Given the description of an element on the screen output the (x, y) to click on. 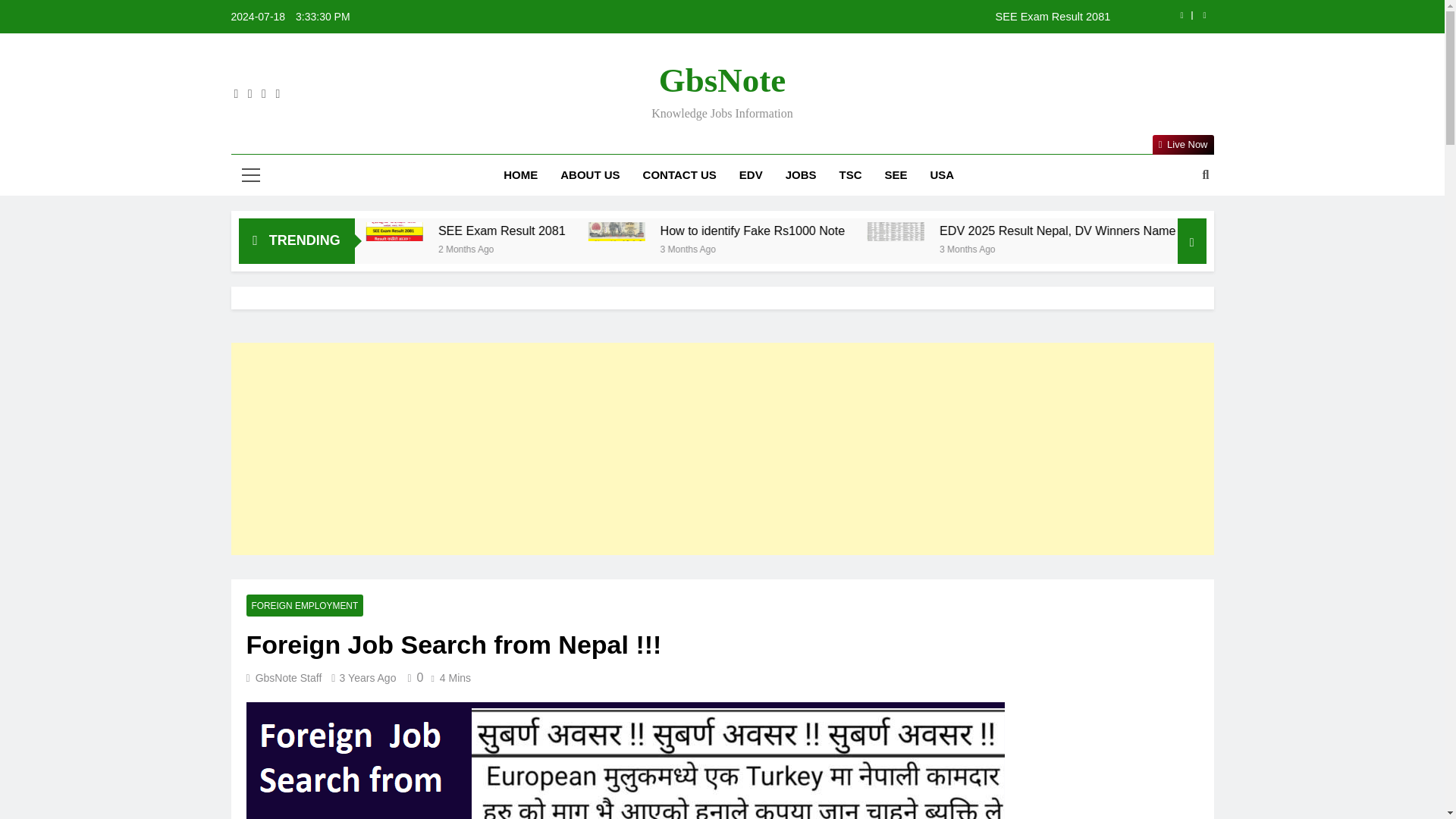
CONTACT US (679, 174)
SEE (895, 174)
GbsNote (722, 80)
SEE Exam Result 2081 (653, 230)
SEE Exam Result 2081 (619, 230)
3 Months Ago (829, 247)
SEE 2081 Exam Result !!! (398, 230)
ABOUT US (589, 174)
HOME (520, 174)
SEE Exam Result 2081 (817, 16)
SEE 2081 Exam Result !!! (432, 230)
TSC (850, 174)
1 Month Ago (384, 247)
SEE Exam Result 2081 (515, 230)
USA (942, 174)
